Given the description of an element on the screen output the (x, y) to click on. 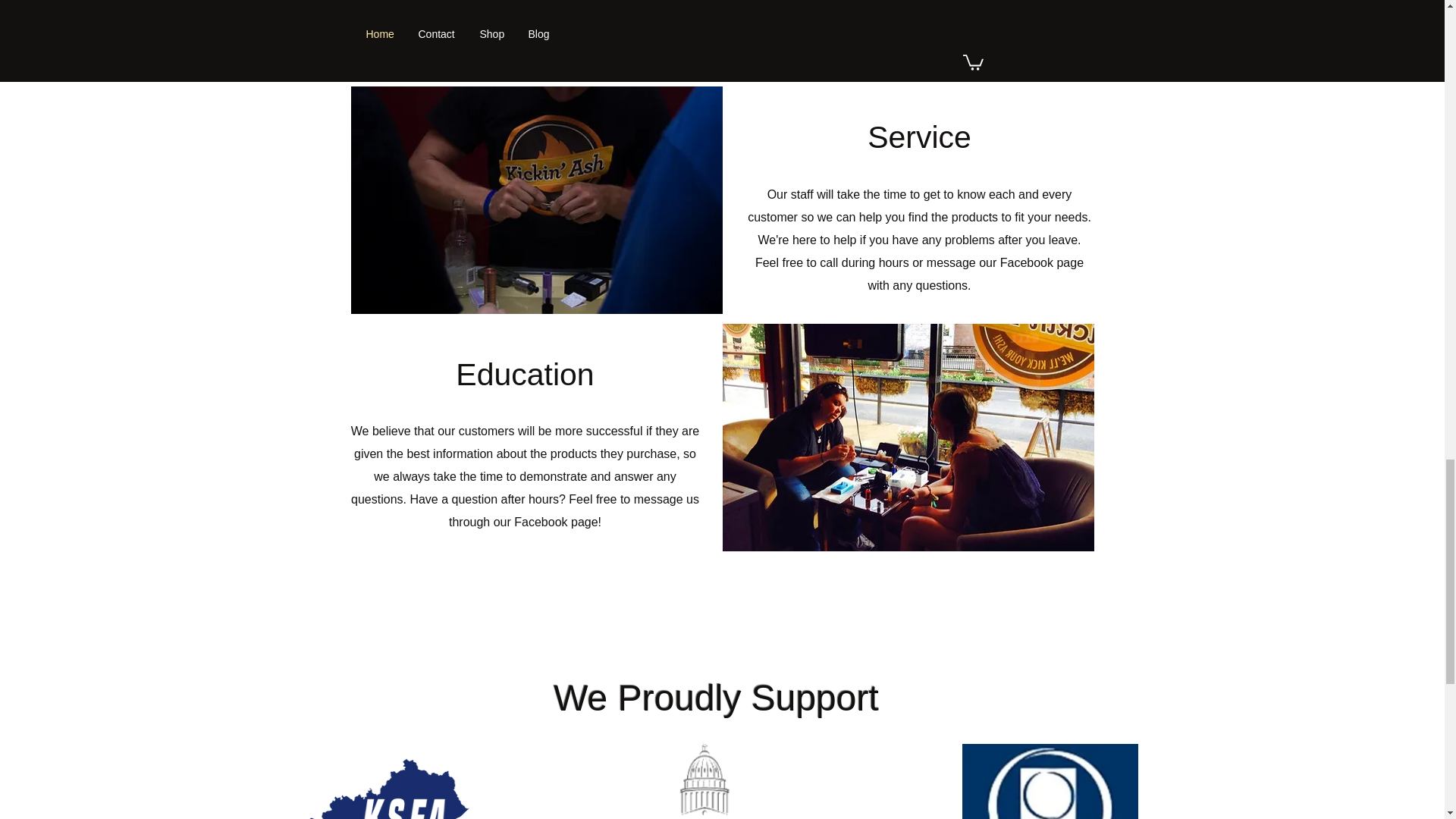
22.jpg (536, 199)
unnamed.png (702, 781)
download.jpg (1050, 781)
